Given the description of an element on the screen output the (x, y) to click on. 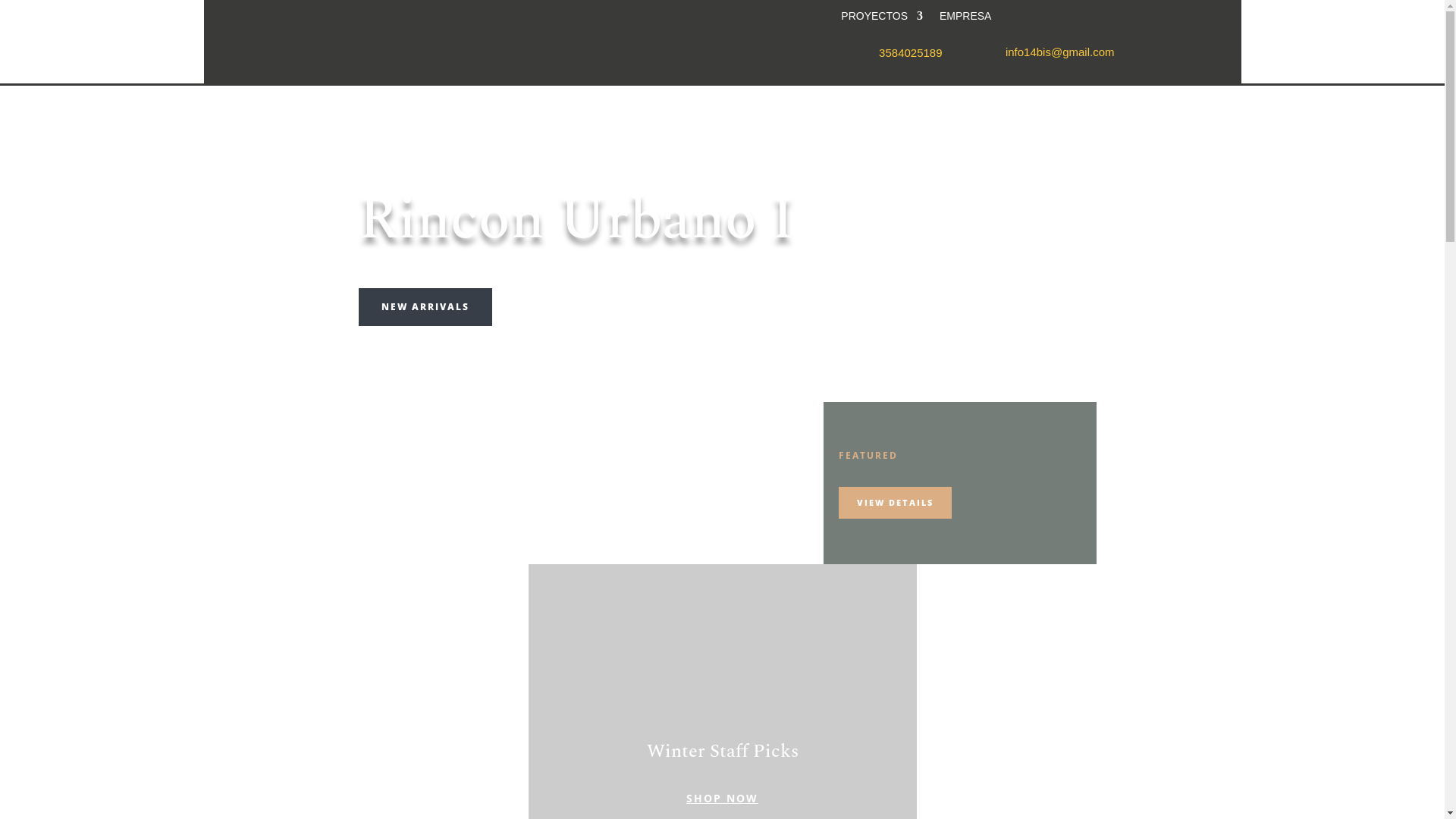
PROYECTOS Element type: text (881, 18)
EMPRESA Element type: text (965, 18)
VIEW DETAILS Element type: text (894, 502)
NEW ARRIVALS Element type: text (424, 307)
